Given the description of an element on the screen output the (x, y) to click on. 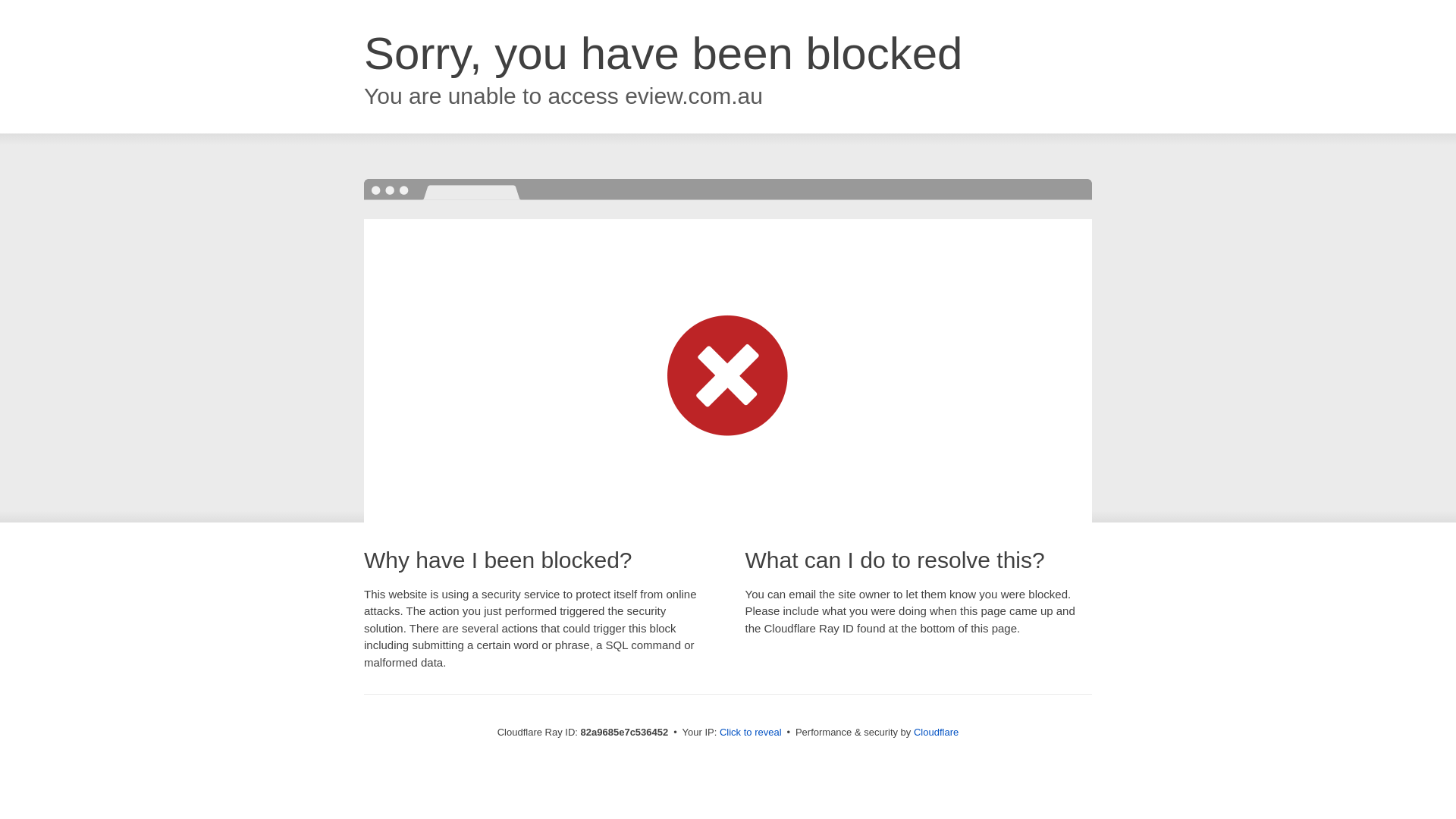
Click to reveal Element type: text (750, 732)
Cloudflare Element type: text (935, 731)
